Given the description of an element on the screen output the (x, y) to click on. 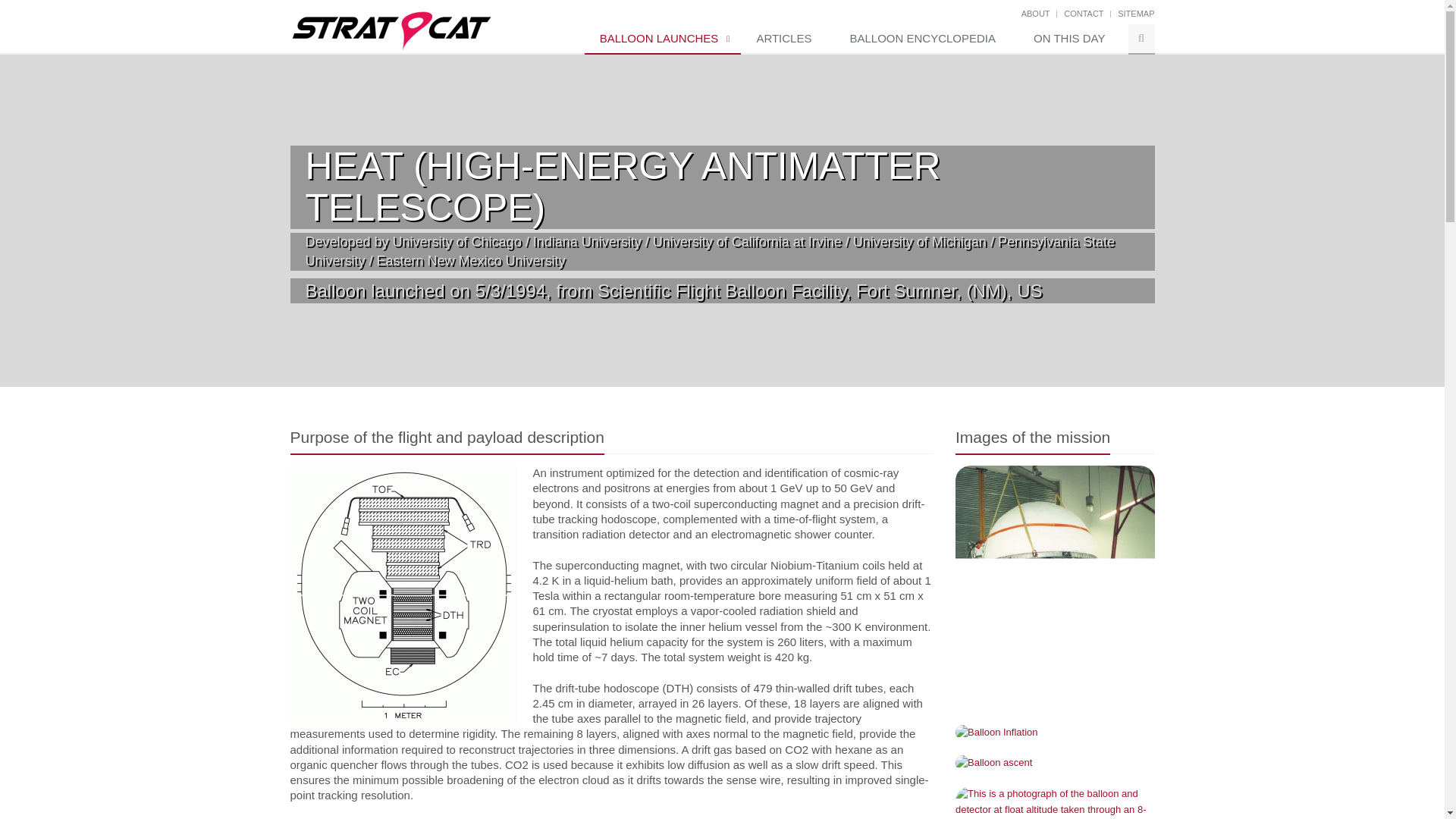
BALLOON ENCYCLOPEDIA (925, 39)
BALLOON LAUNCHES (663, 39)
Balloon Inflation (1054, 732)
ABOUT (1035, 13)
CONTACT (1083, 13)
ARTICLES (787, 39)
Balloon ascent (1054, 763)
SITEMAP (1136, 13)
ON THIS DAY (1071, 39)
